Given the description of an element on the screen output the (x, y) to click on. 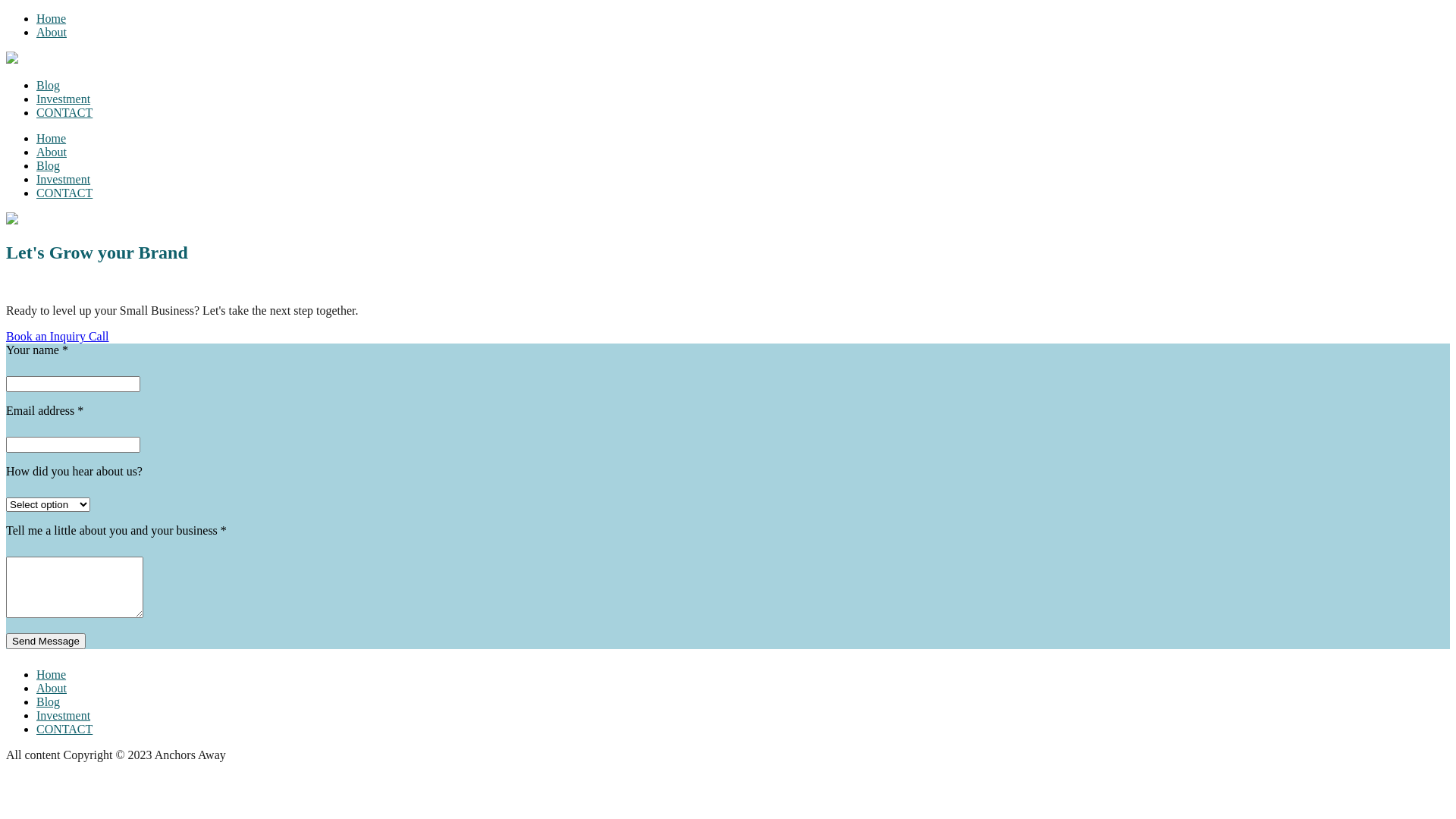
Investment Element type: text (63, 98)
Blog Element type: text (47, 165)
Home Element type: text (50, 18)
Investment Element type: text (63, 178)
Send Message Element type: text (45, 641)
CONTACT Element type: text (64, 728)
Home Element type: text (50, 137)
CONTACT Element type: text (64, 112)
CONTACT Element type: text (64, 192)
About Element type: text (51, 687)
Home Element type: text (50, 674)
Book an Inquiry Call Element type: text (57, 335)
About Element type: text (51, 31)
Investment Element type: text (63, 715)
About Element type: text (51, 151)
Blog Element type: text (47, 84)
Blog Element type: text (47, 701)
